Given the description of an element on the screen output the (x, y) to click on. 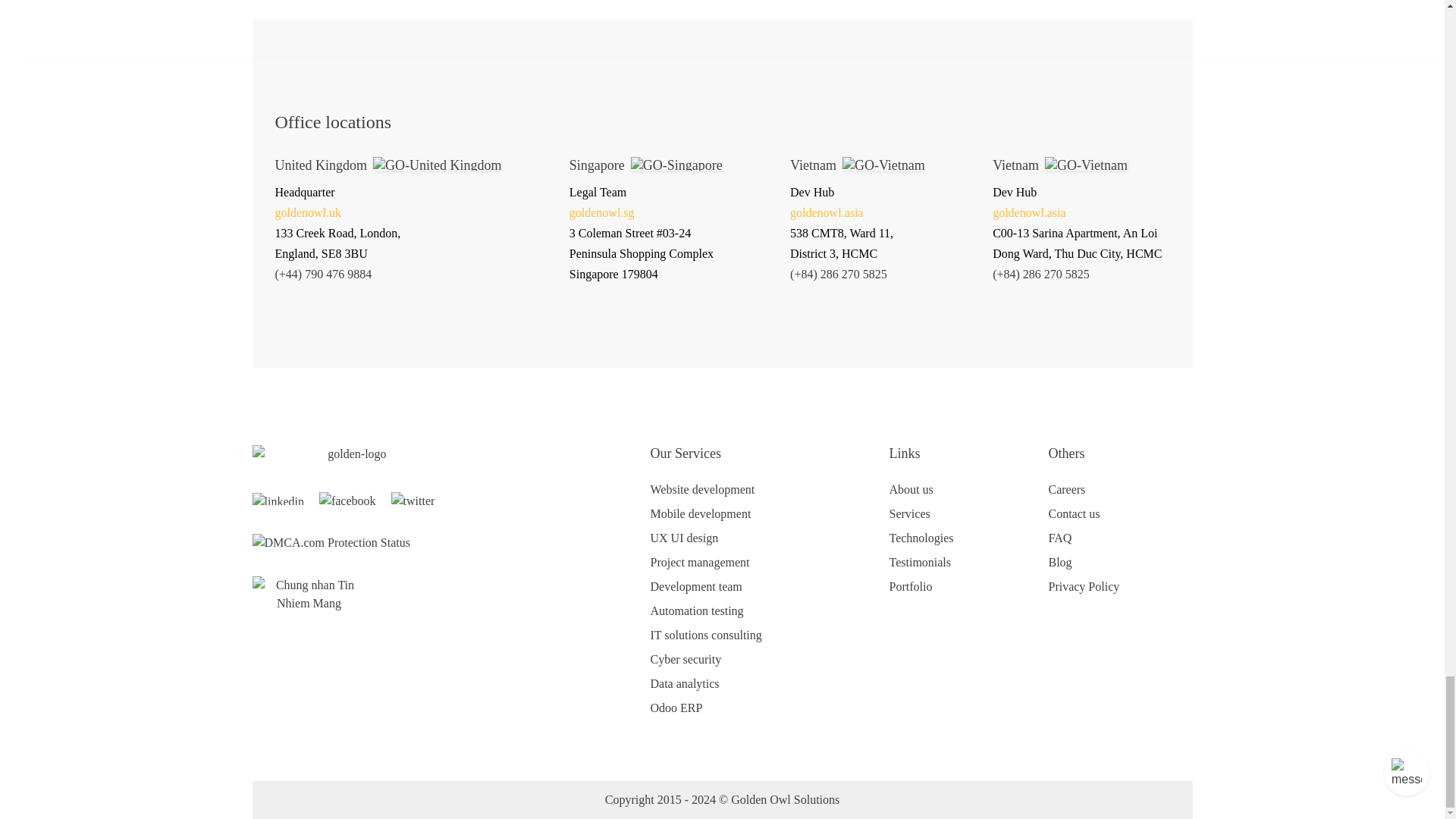
goldenowl.uk (307, 212)
DMCA.com Protection Status (330, 541)
